Given the description of an element on the screen output the (x, y) to click on. 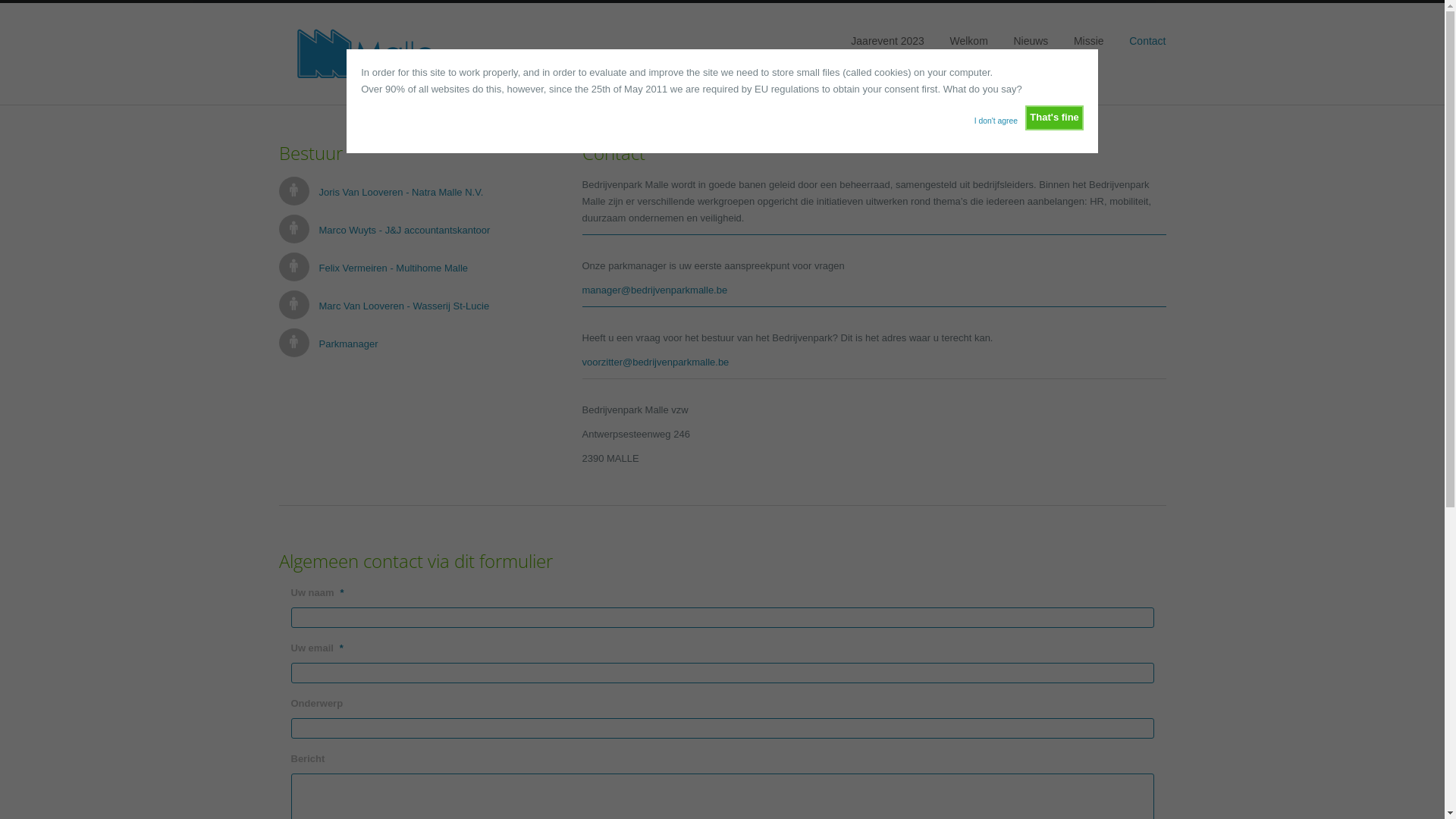
Marco Wuyts - J&J accountantskantoor Element type: text (403, 229)
Welkom Element type: text (968, 40)
Parkmanager Element type: text (347, 343)
Contact Element type: text (1147, 40)
Felix Vermeiren - Multihome Malle Element type: text (392, 267)
voorzitter@bedrijvenparkmalle.be Element type: text (655, 361)
Joris Van Looveren - Natra Malle N.V. Element type: text (400, 191)
That's fine Element type: text (1053, 117)
Nieuws Element type: text (1030, 40)
manager@bedrijvenparkmalle.be Element type: text (655, 289)
Marc Van Looveren - Wasserij St-Lucie Element type: text (403, 305)
Missie Element type: text (1088, 40)
I don't agree Element type: text (995, 116)
Jaarevent 2023 Element type: text (887, 40)
